Given the description of an element on the screen output the (x, y) to click on. 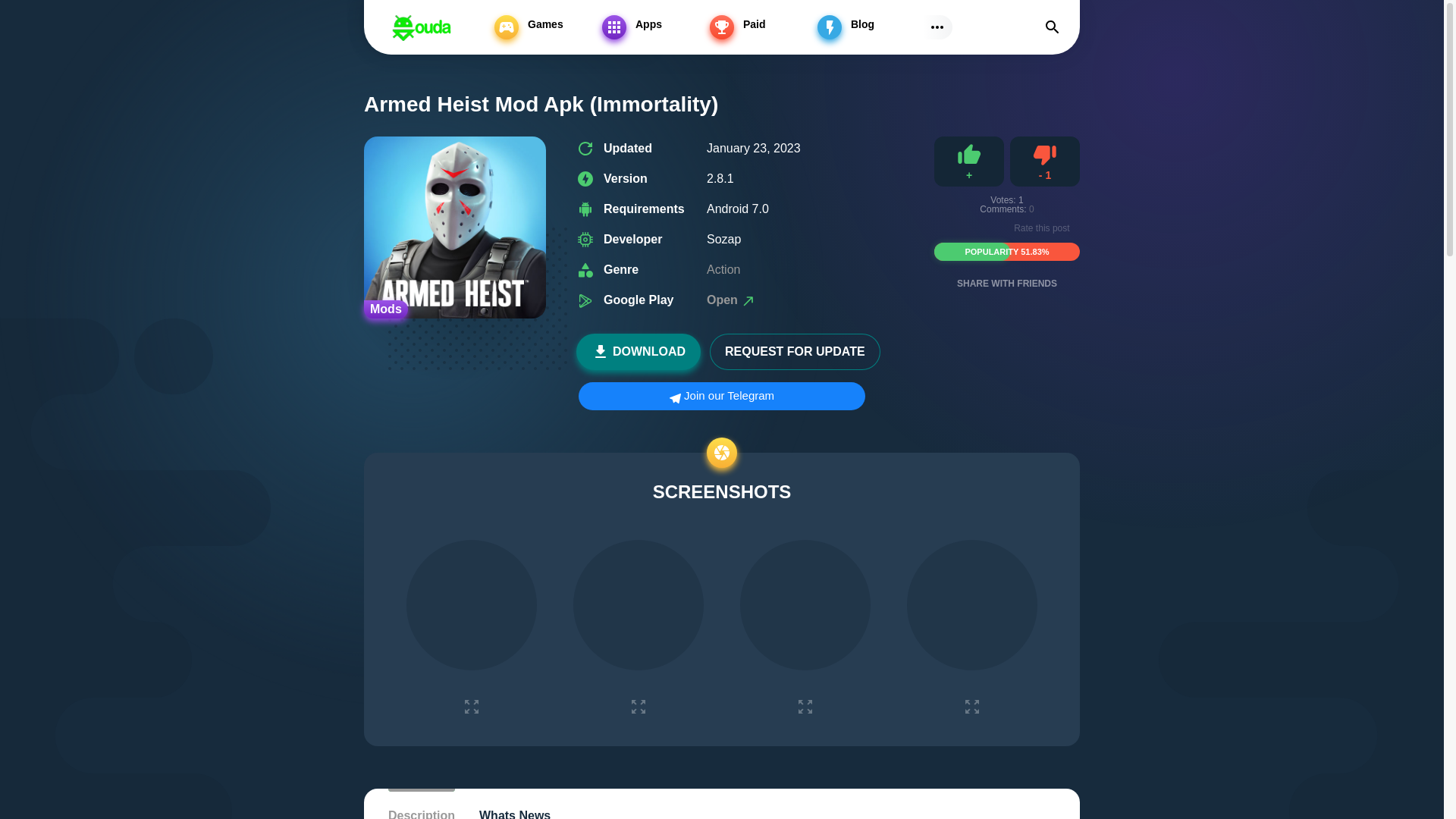
Description (421, 803)
Open (730, 299)
Action (466, 36)
armed-heist-shooting-gun-game.png (455, 227)
join our telegram (721, 396)
Games (429, 36)
Blog (867, 27)
Dislike (1045, 161)
Share with friends (1007, 288)
Home (394, 36)
Xouda (421, 27)
Find (1051, 27)
Apps (1045, 161)
Application popularity (652, 27)
